Given the description of an element on the screen output the (x, y) to click on. 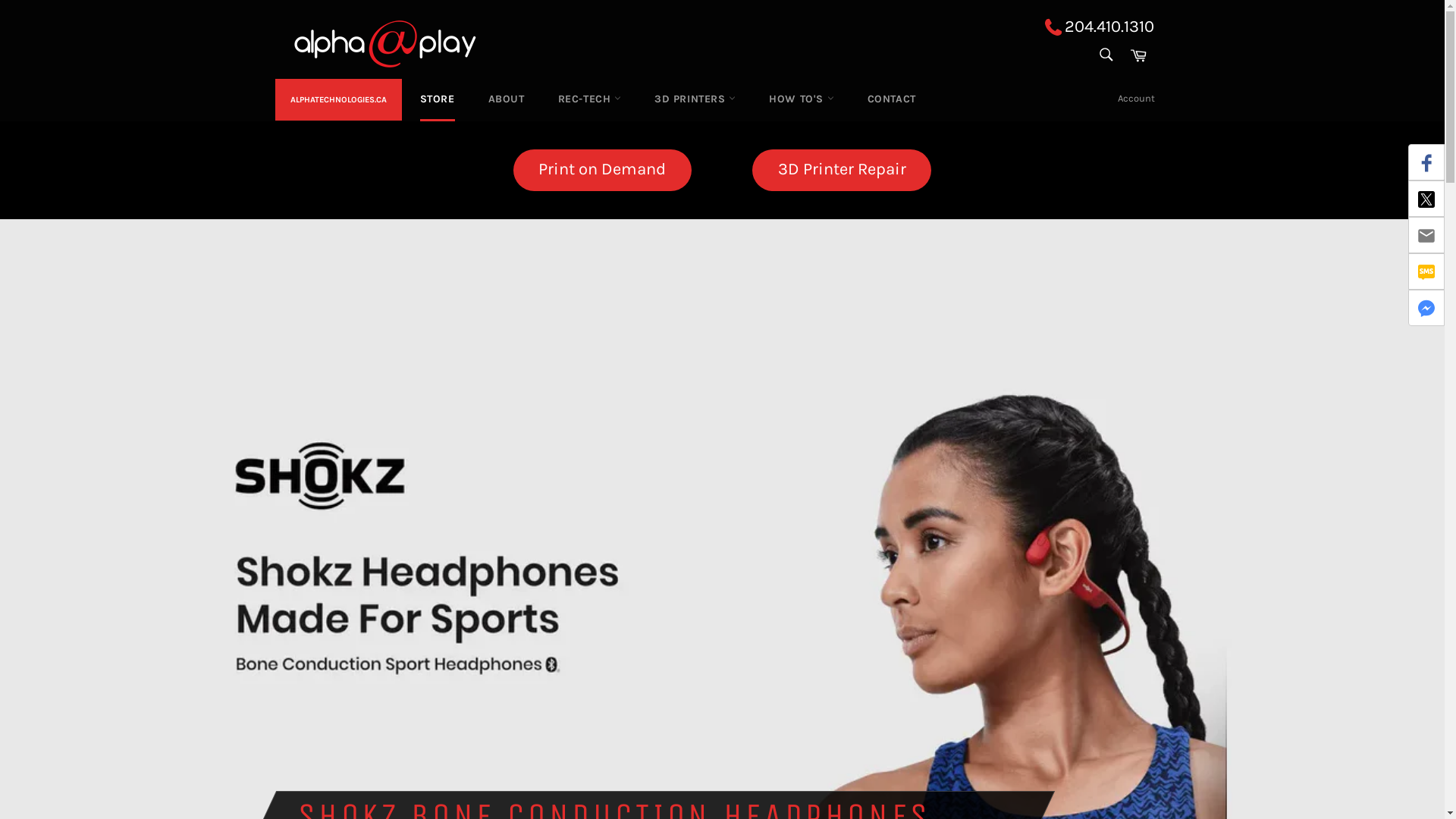
3D PRINTERS Element type: text (694, 98)
REC-TECH Element type: text (589, 98)
3D Printer Repair Element type: text (841, 170)
HOW TO'S Element type: text (800, 98)
Print on Demand Element type: text (602, 170)
Search Element type: text (1105, 54)
STORE Element type: text (437, 98)
ABOUT Element type: text (506, 98)
CONTACT Element type: text (891, 98)
ALPHATECHNOLOGIES.CA Element type: text (337, 99)
Account Element type: text (1136, 98)
Cart Element type: text (1138, 55)
